Given the description of an element on the screen output the (x, y) to click on. 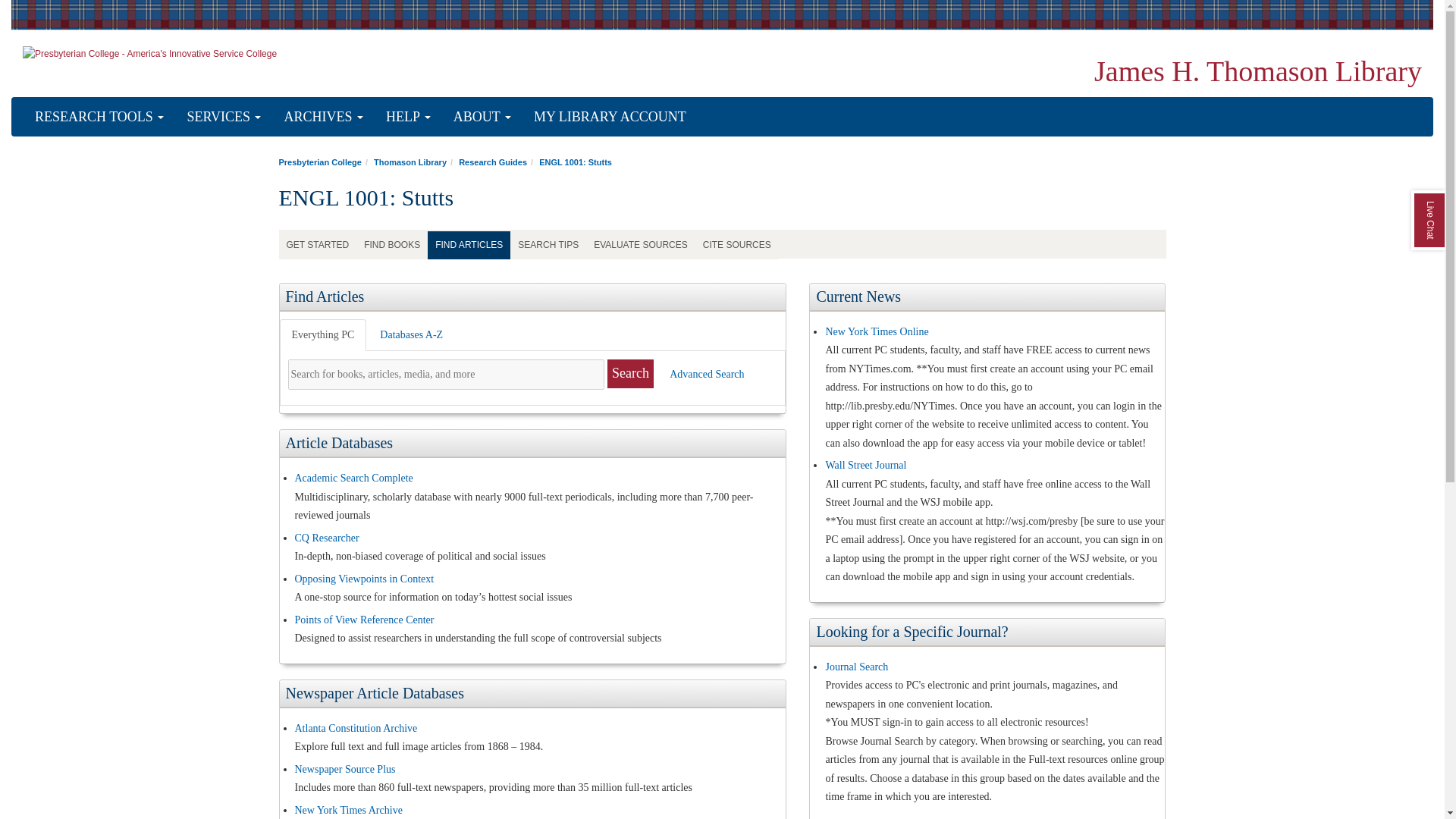
Thomason Library (410, 162)
SERVICES (223, 116)
RESEARCH TOOLS (98, 116)
Research Guides (492, 162)
ENGL 1001: Stutts (574, 162)
Search (630, 373)
Presbyterian College (320, 162)
MY LIBRARY ACCOUNT (609, 116)
ARCHIVES (323, 116)
ABOUT (482, 116)
HELP (408, 116)
Search (630, 373)
James H. Thomason Library (1258, 70)
